Given the description of an element on the screen output the (x, y) to click on. 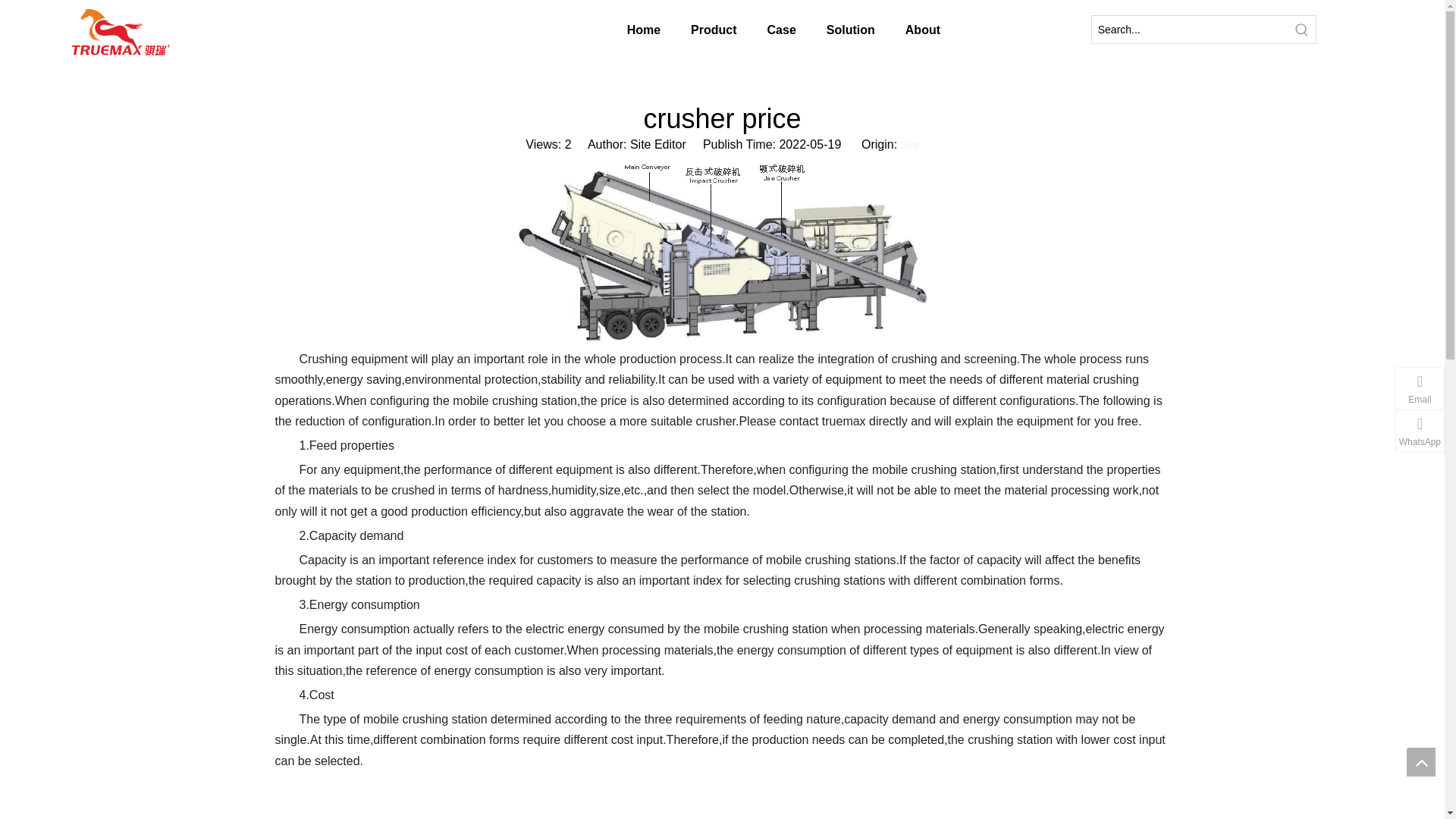
Product   (638, 30)
Case   (727, 30)
Solution   (817, 30)
Home (557, 30)
About   (911, 30)
